Given the description of an element on the screen output the (x, y) to click on. 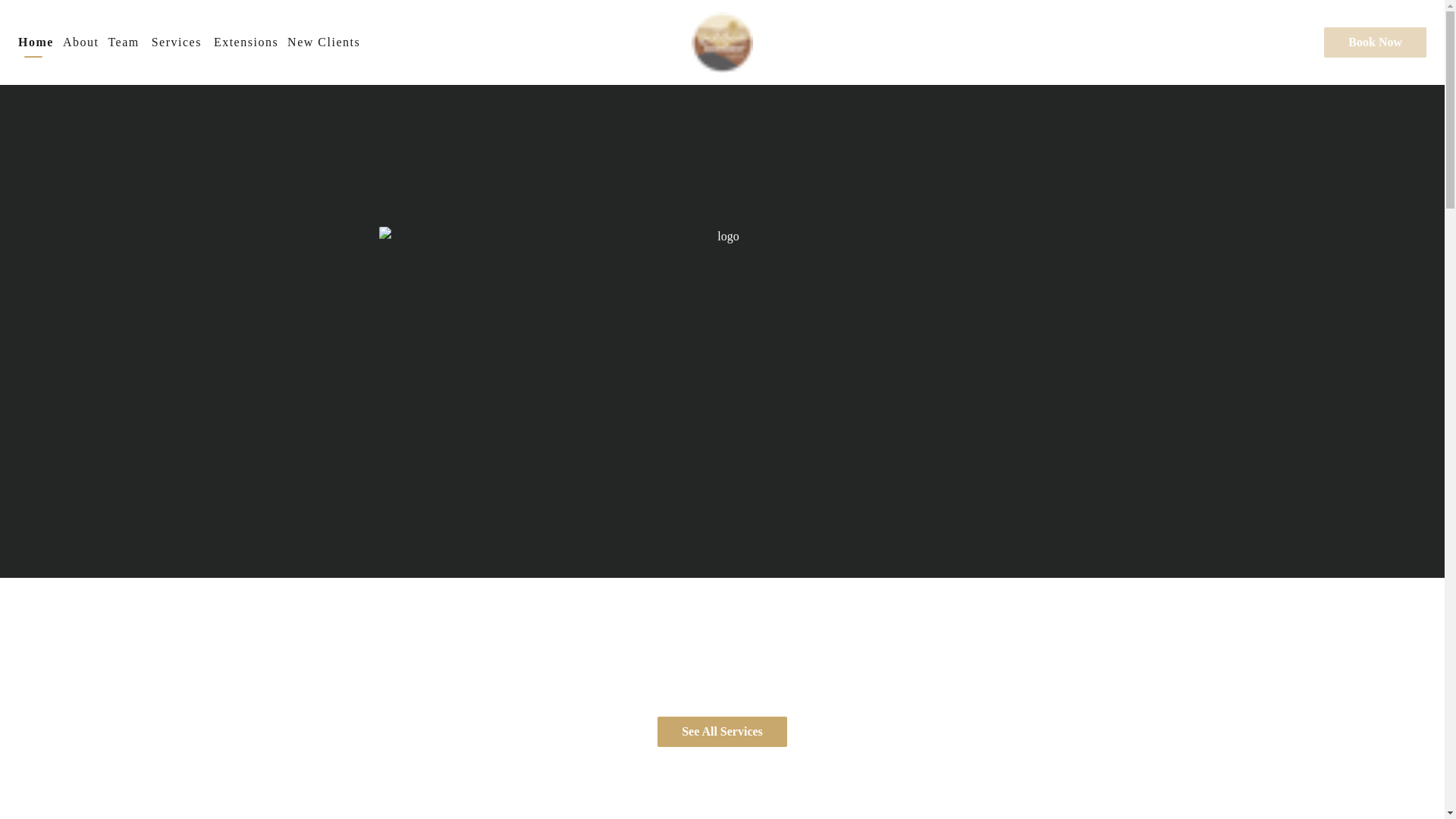
Extensions (245, 42)
Book Now (1374, 42)
New Clients (323, 42)
Book Now (1372, 42)
Services (176, 42)
